Given the description of an element on the screen output the (x, y) to click on. 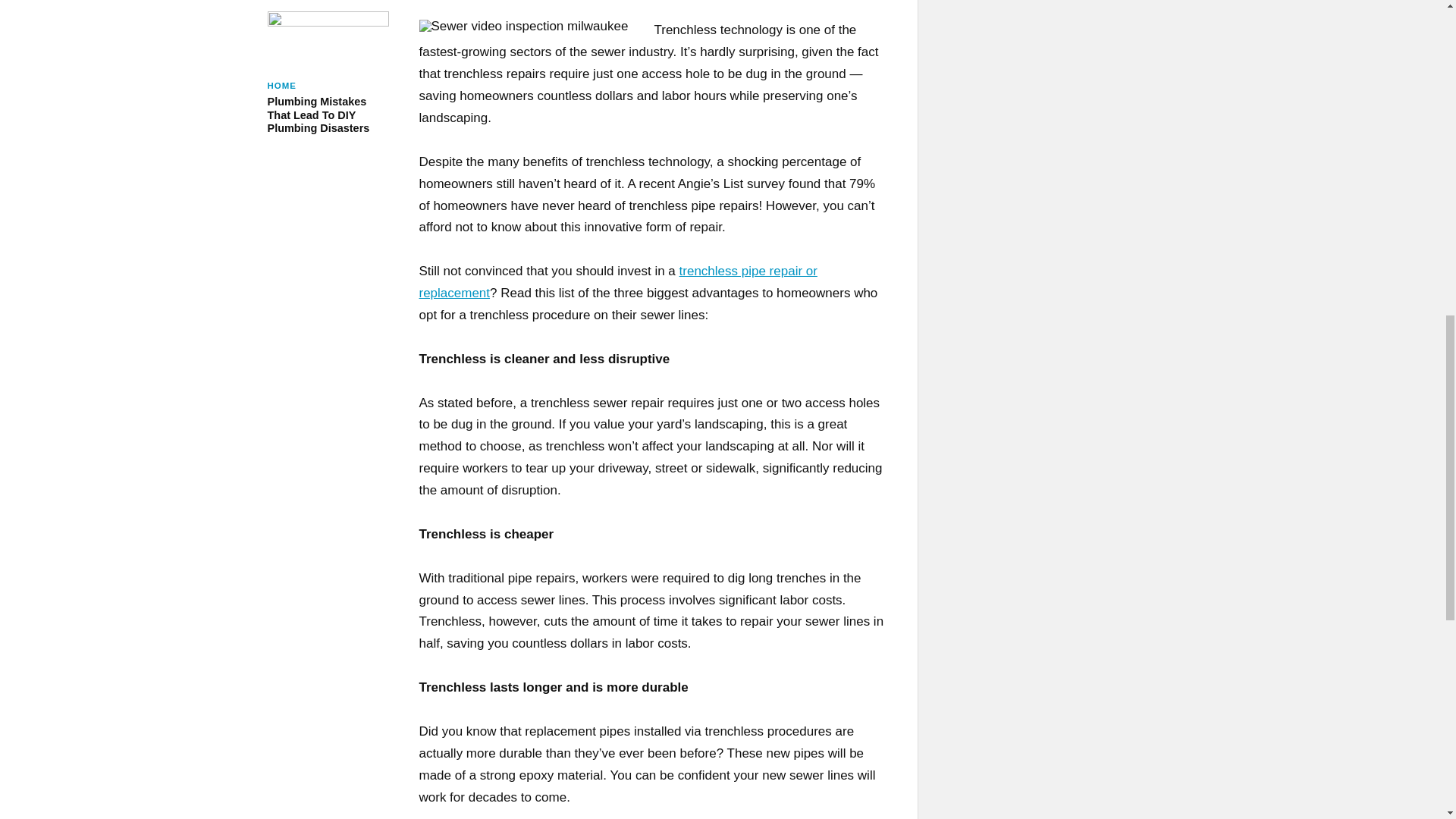
trenchless pipe repair or replacement (327, 73)
